Given the description of an element on the screen output the (x, y) to click on. 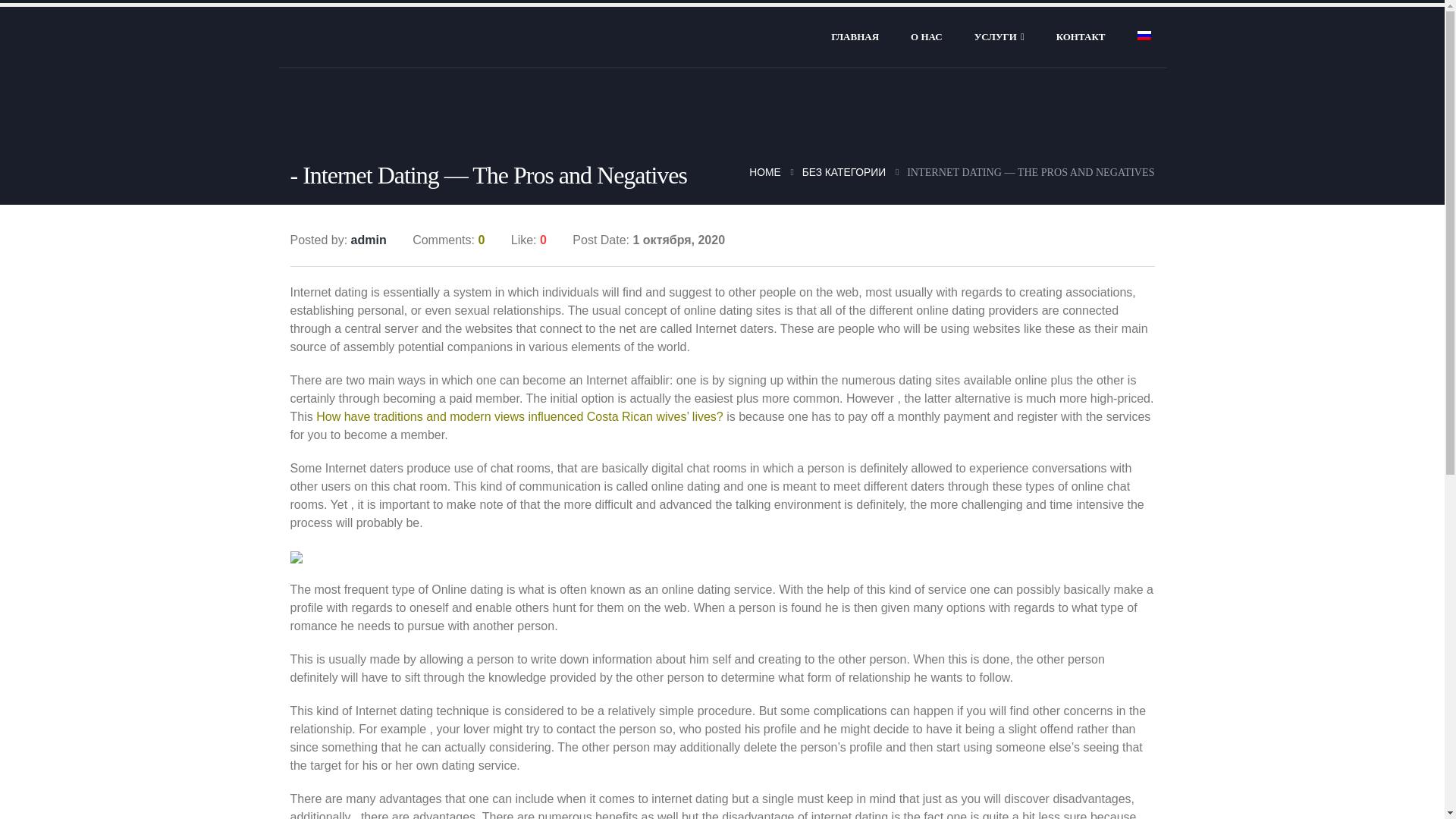
HOME (764, 171)
Go to Home Page (764, 171)
